Given the description of an element on the screen output the (x, y) to click on. 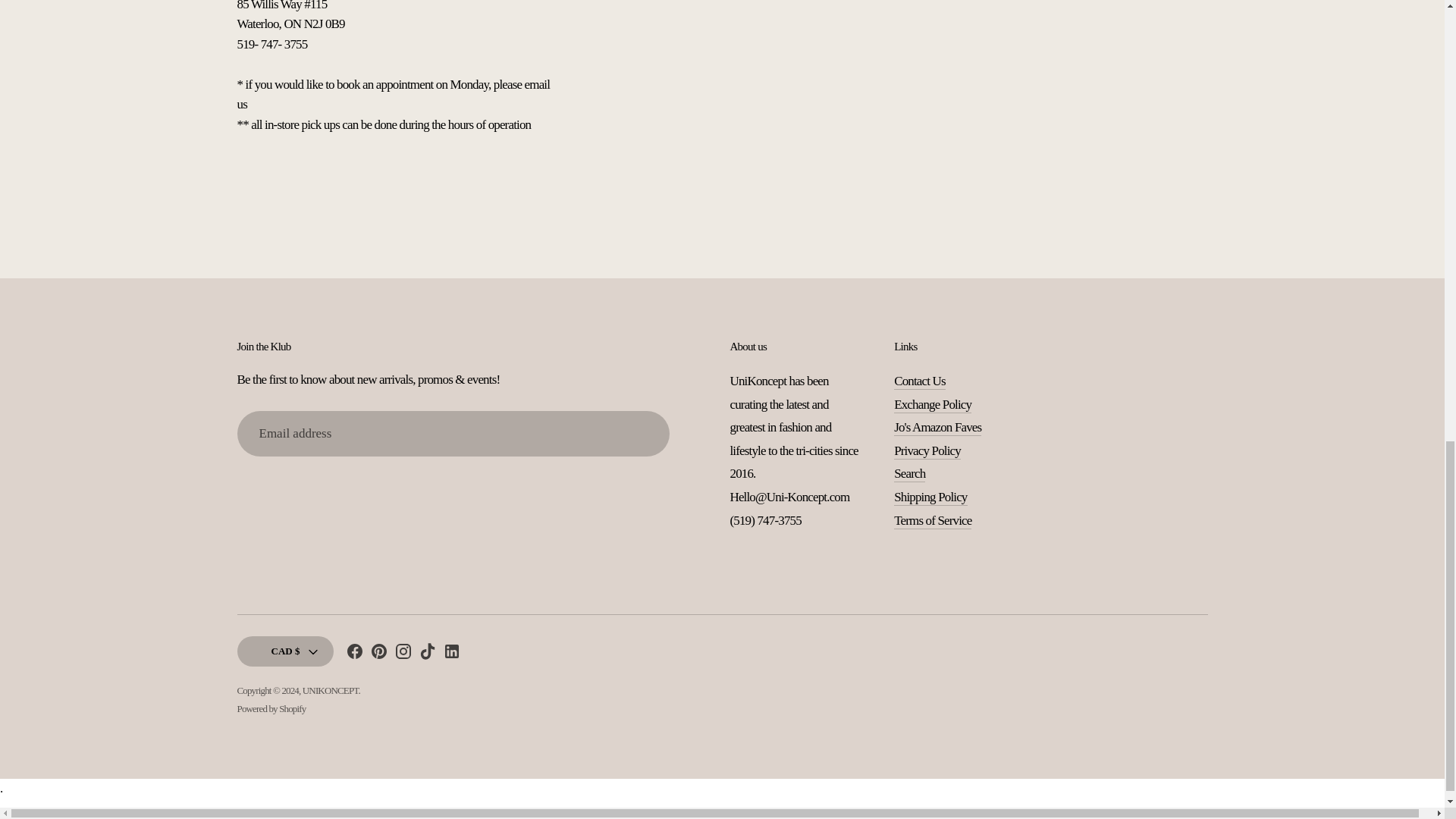
UNIKONCEPT on Pinterest (378, 654)
UNIKONCEPT on Instagram (403, 654)
UNIKONCEPT on LinkedIn (451, 654)
UNIKONCEPT on Tiktok (427, 654)
UNIKONCEPT on Facebook (355, 654)
